Given the description of an element on the screen output the (x, y) to click on. 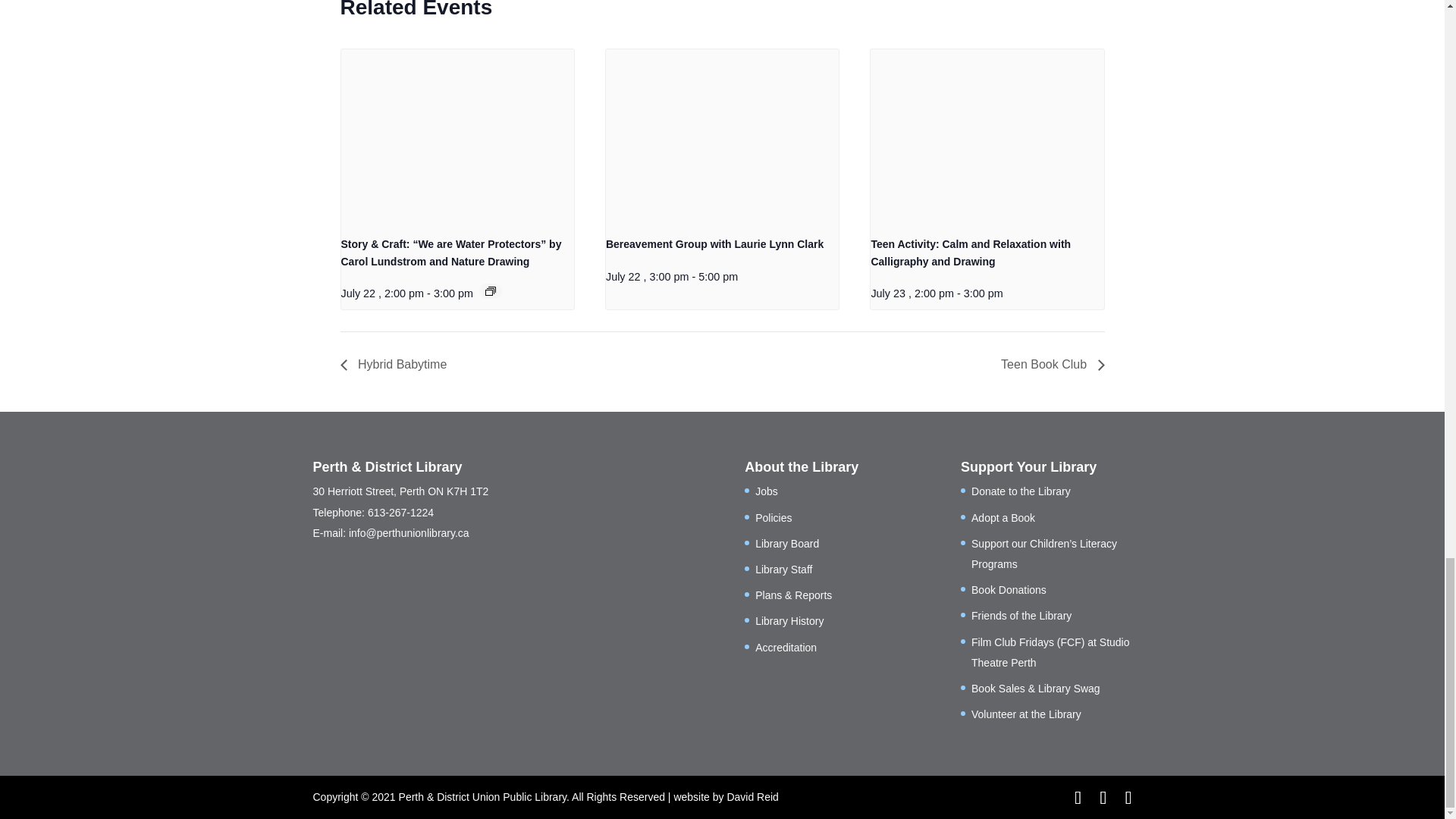
Event Series (490, 290)
